Given the description of an element on the screen output the (x, y) to click on. 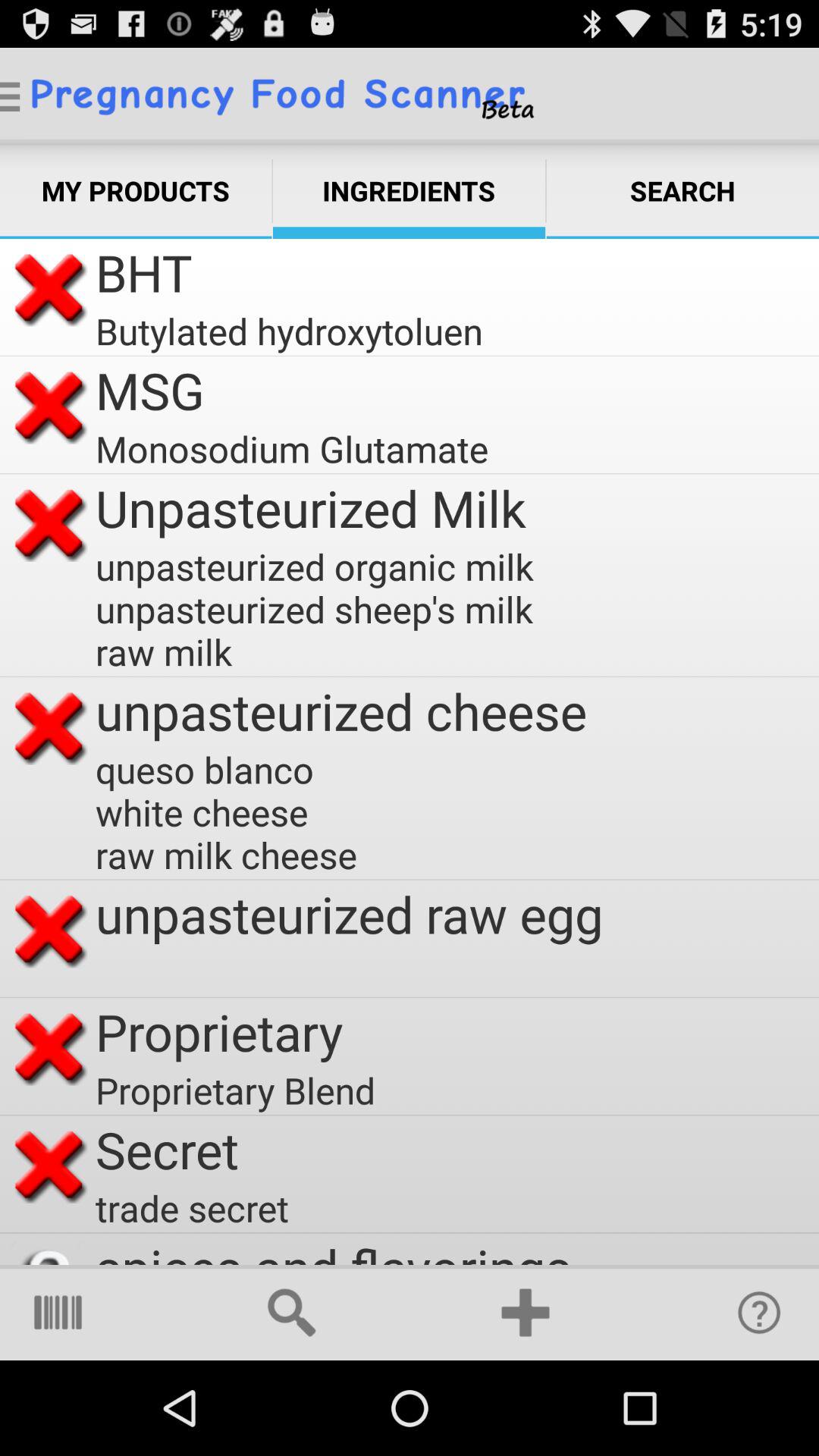
choose butylated hydroxytoluen app (288, 330)
